Given the description of an element on the screen output the (x, y) to click on. 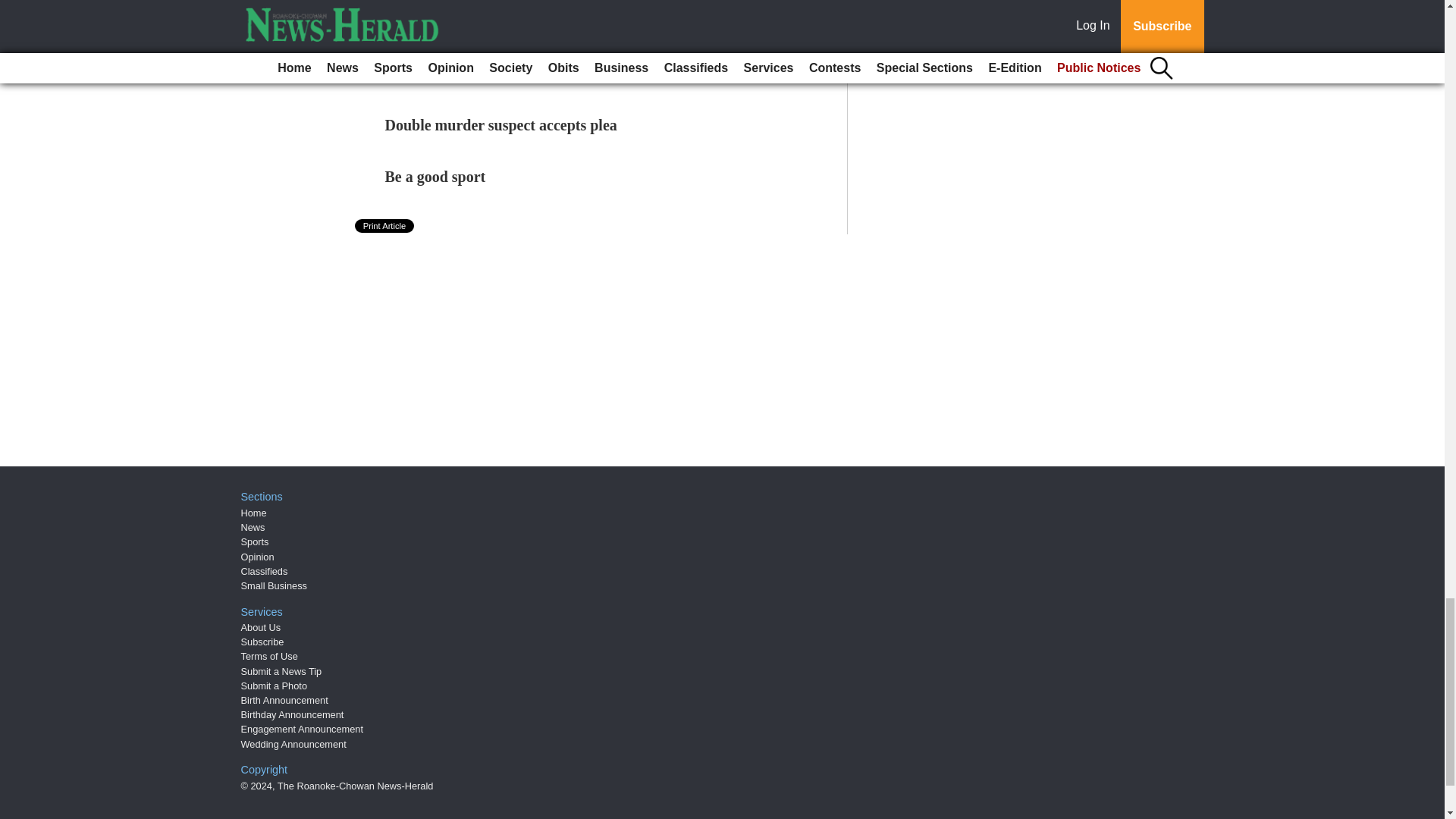
Be a good sport (435, 176)
Double murder suspect accepts plea (501, 125)
Be a good sport (435, 176)
Double murder suspect accepts plea (501, 125)
Print Article (384, 225)
Bertie Under Warning until 5:00 pm (503, 21)
Bertie Under Warning until 5:00 pm (503, 21)
Double murder suspect enters guilty plea (517, 73)
Double murder suspect enters guilty plea (517, 73)
